Given the description of an element on the screen output the (x, y) to click on. 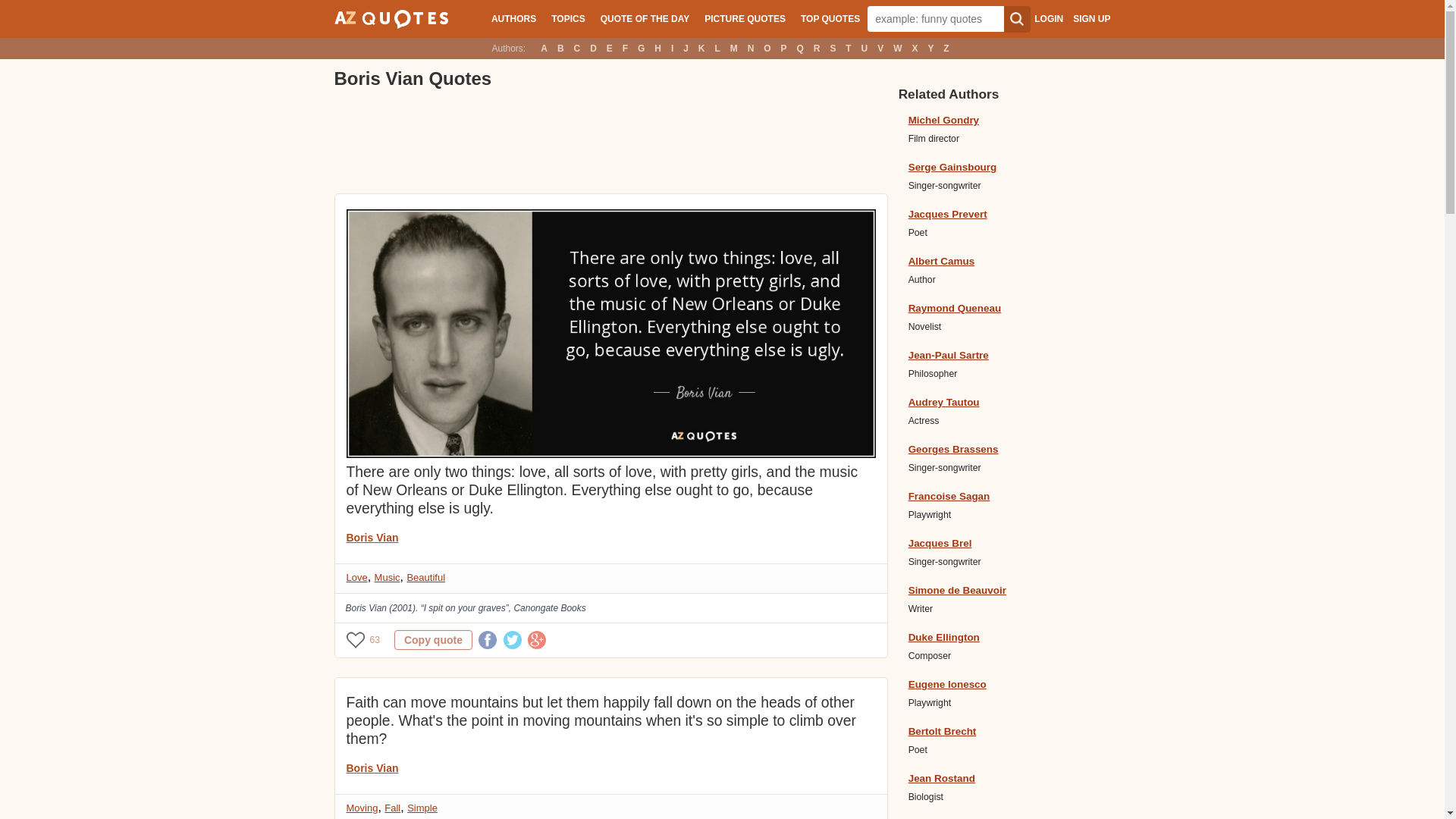
LOGIN (1047, 18)
Quote is copied (432, 639)
TOP QUOTES (830, 18)
PICTURE QUOTES (745, 18)
SIGN UP (1091, 18)
TOPICS (567, 18)
AUTHORS (513, 18)
QUOTE OF THE DAY (644, 18)
